Given the description of an element on the screen output the (x, y) to click on. 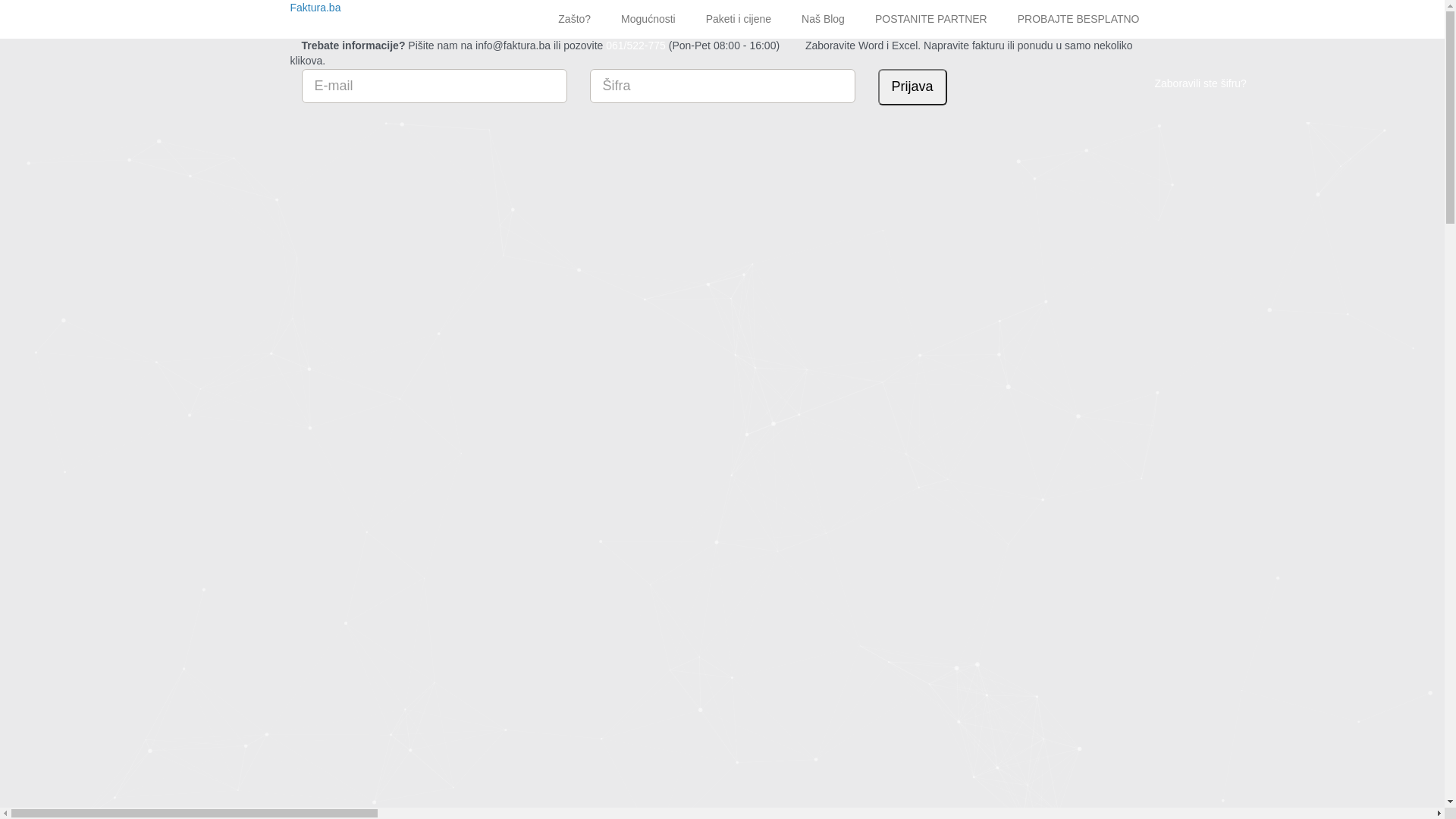
Paketi i cijene Element type: text (738, 18)
Prijava Element type: text (912, 87)
Faktura.ba Element type: text (314, 7)
061/522-775 Element type: text (635, 45)
PROBAJTE BESPLATNO Element type: text (1078, 18)
POSTANITE PARTNER Element type: text (930, 18)
